Given the description of an element on the screen output the (x, y) to click on. 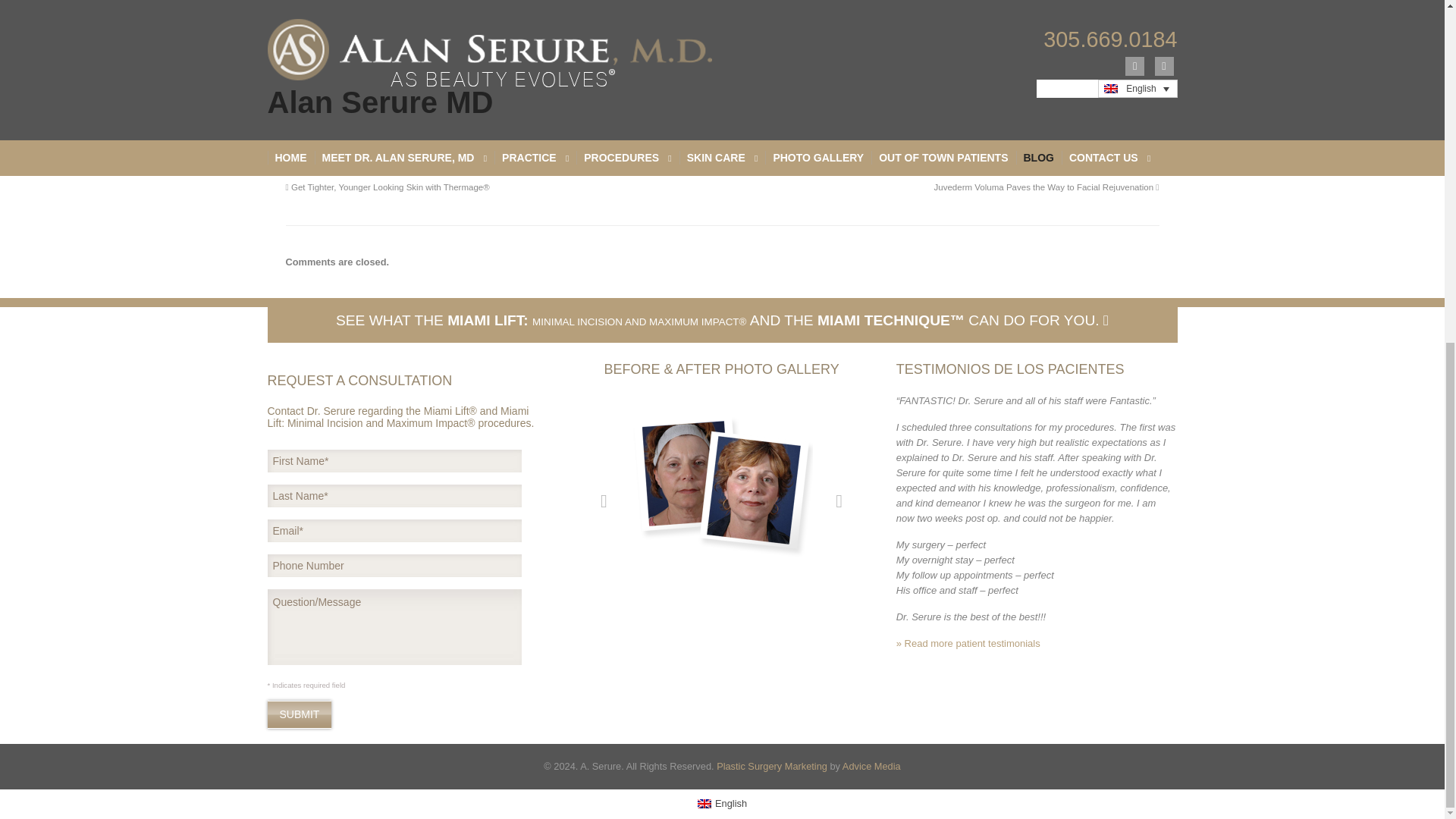
 SUBMIT (298, 714)
Phone Number (393, 565)
English (704, 803)
